Given the description of an element on the screen output the (x, y) to click on. 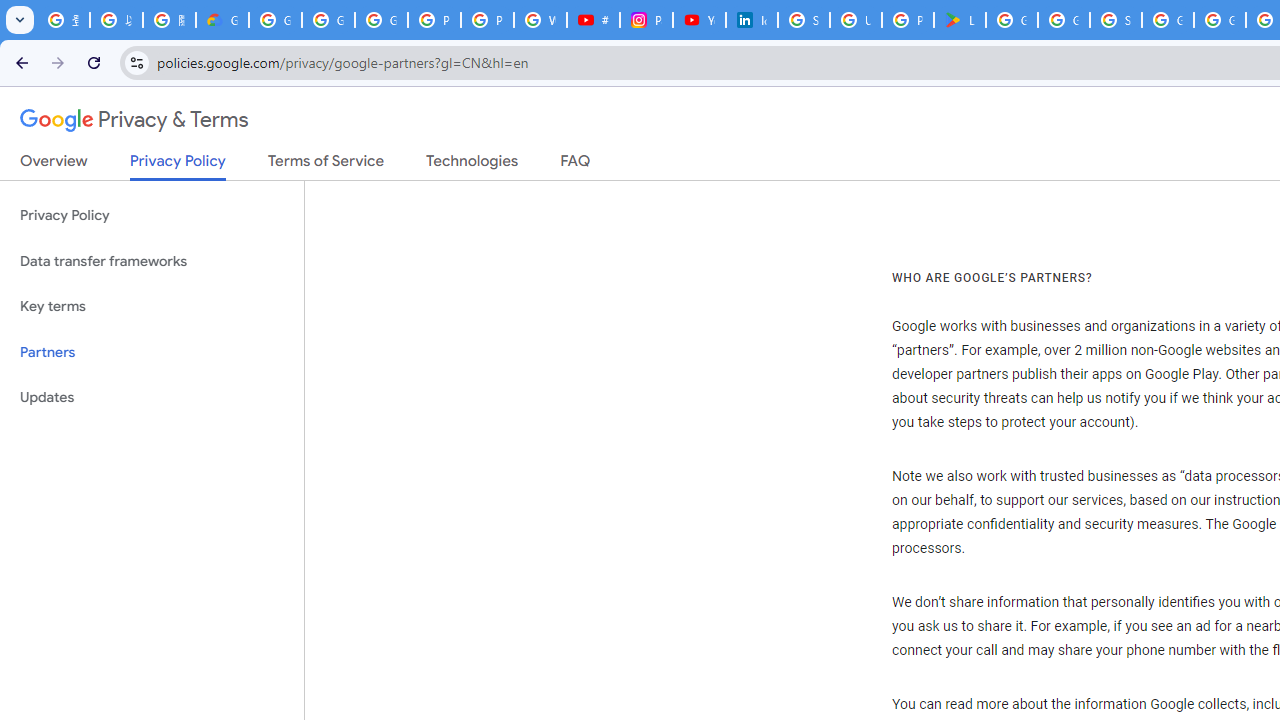
Key terms (152, 306)
Privacy Policy (152, 215)
#nbabasketballhighlights - YouTube (593, 20)
Identity verification via Persona | LinkedIn Help (751, 20)
Privacy Help Center - Policies Help (434, 20)
Last Shelter: Survival - Apps on Google Play (959, 20)
Google Workspace - Specific Terms (1064, 20)
